Given the description of an element on the screen output the (x, y) to click on. 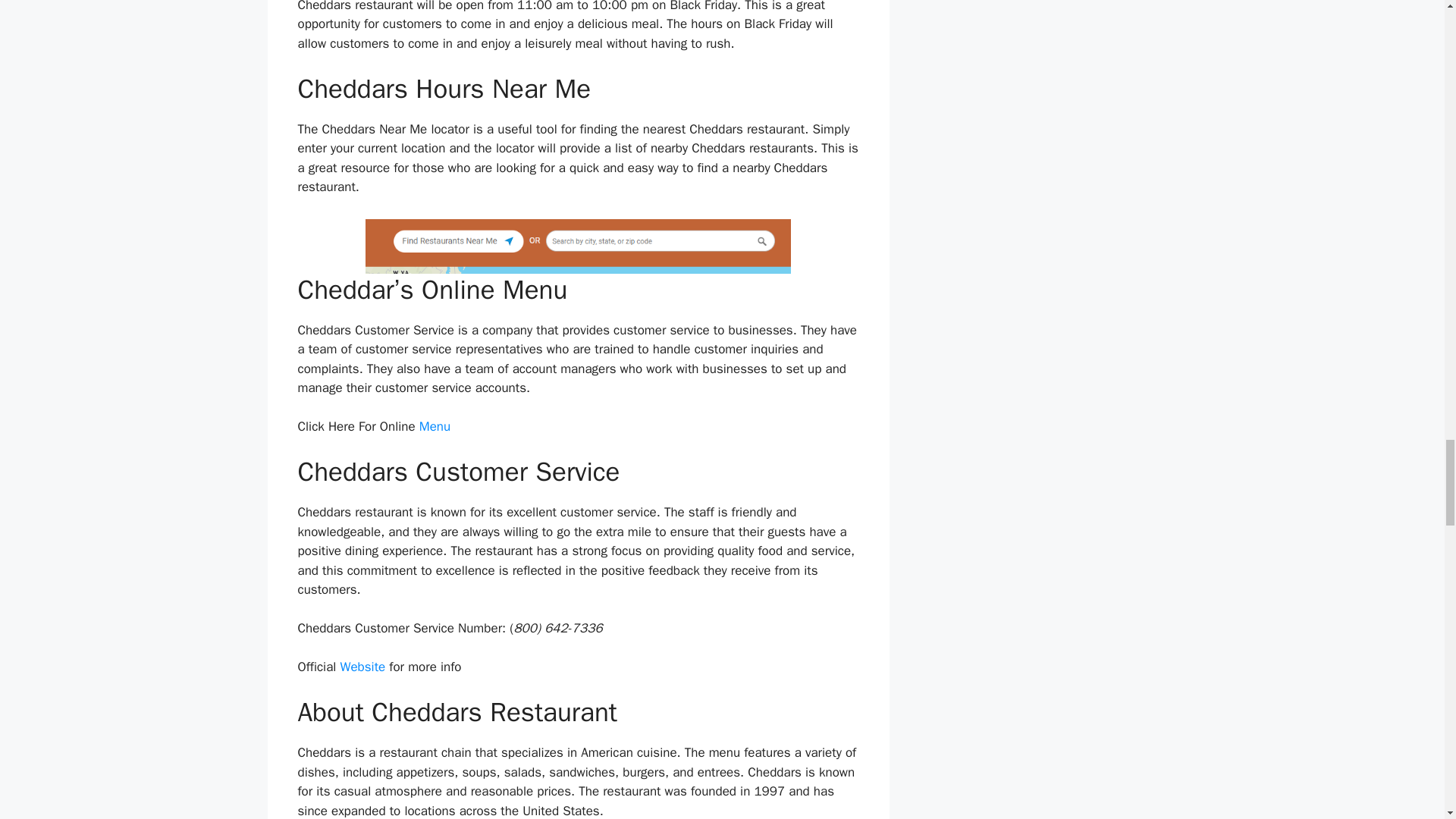
Menu (434, 426)
Website (362, 666)
